Given the description of an element on the screen output the (x, y) to click on. 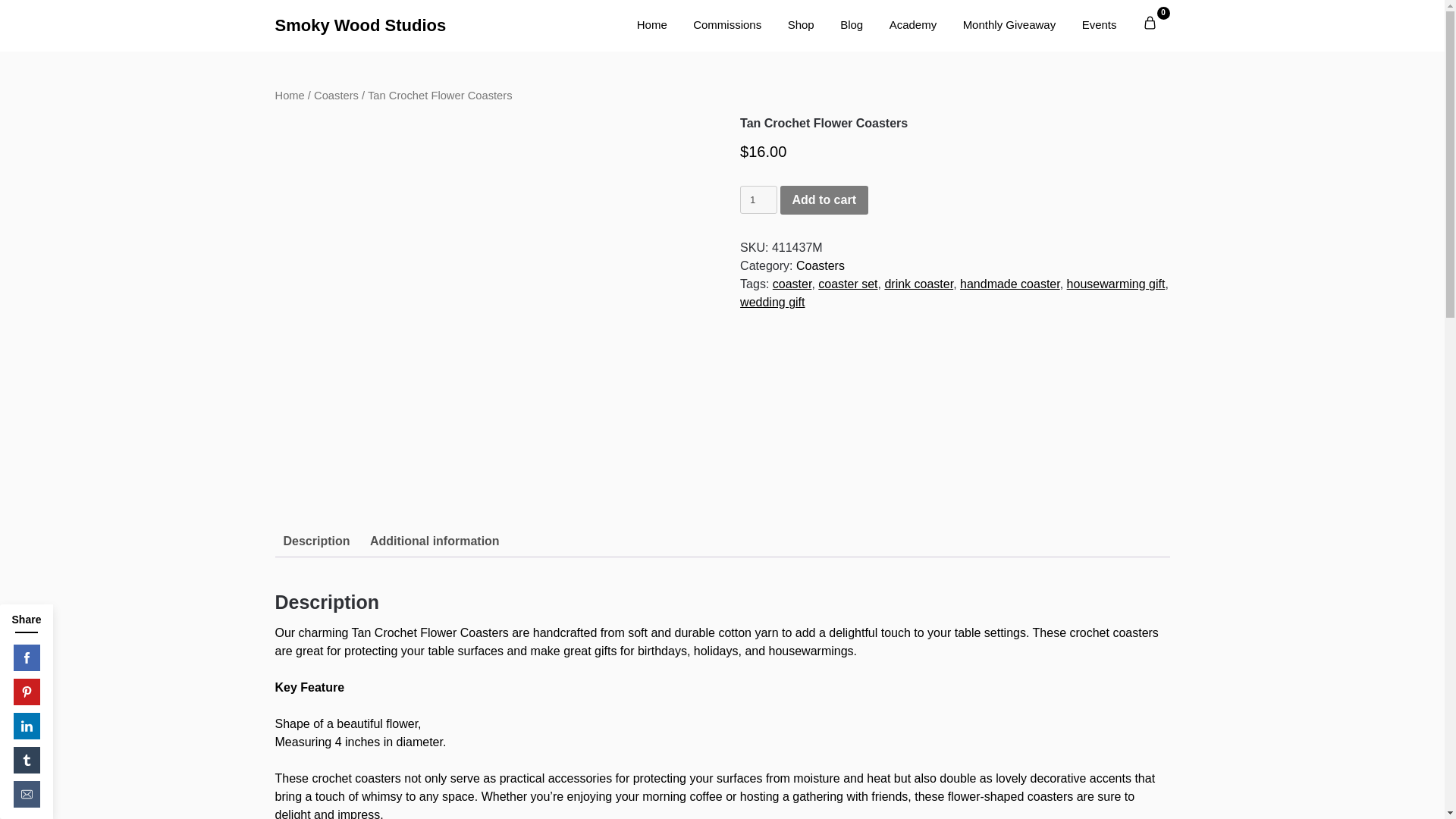
coaster (792, 283)
housewarming gift (1116, 283)
Coasters (820, 265)
drink coaster (918, 283)
Commissions (727, 25)
Home (652, 25)
Monthly Giveaway (1009, 25)
Add to cart (823, 199)
Smoky Wood Studios (409, 25)
Shop (800, 25)
